Given the description of an element on the screen output the (x, y) to click on. 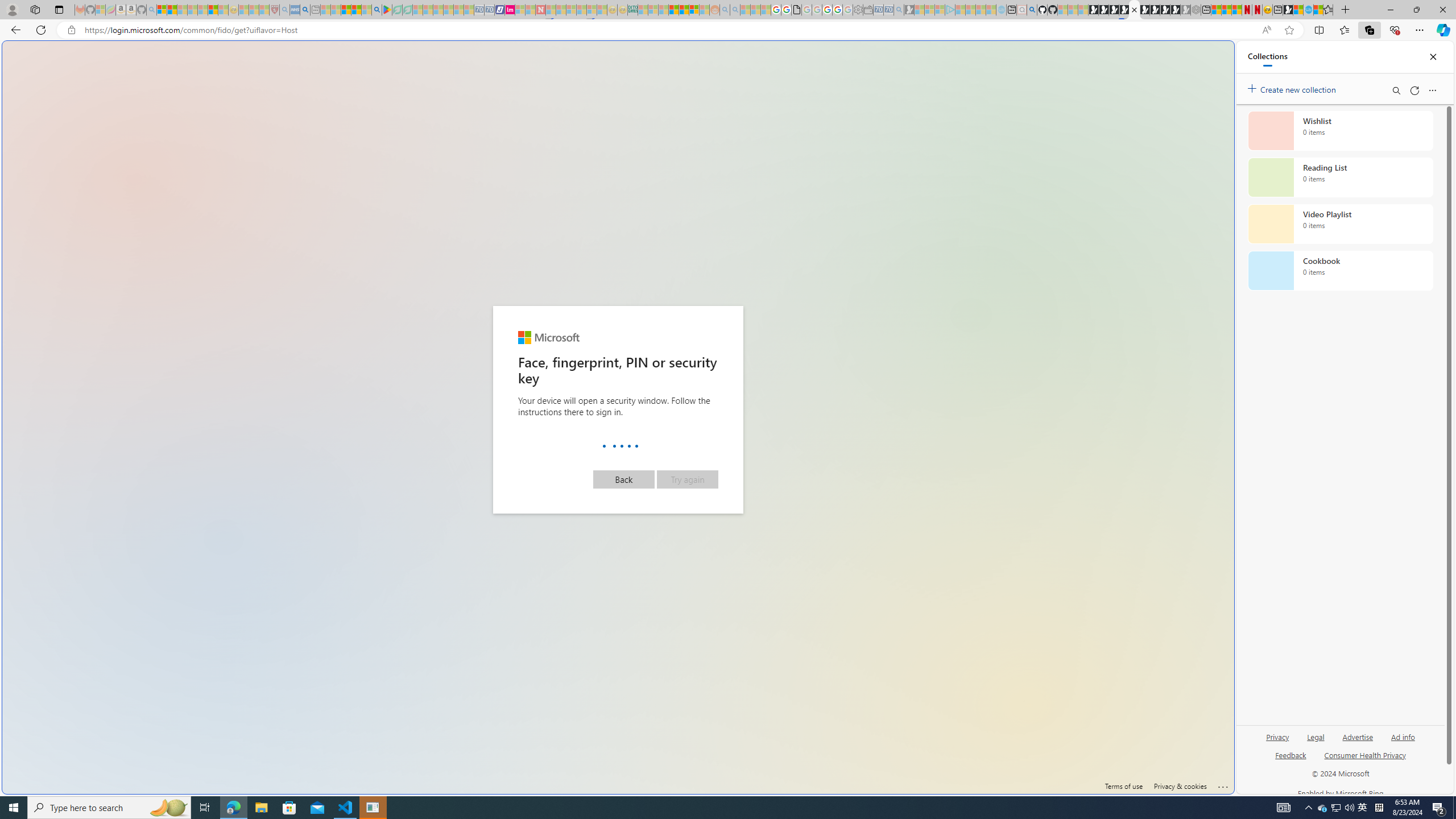
utah sues federal government - Search (304, 9)
More options menu (1432, 90)
Cookbook collection, 0 items (1339, 270)
